Given the description of an element on the screen output the (x, y) to click on. 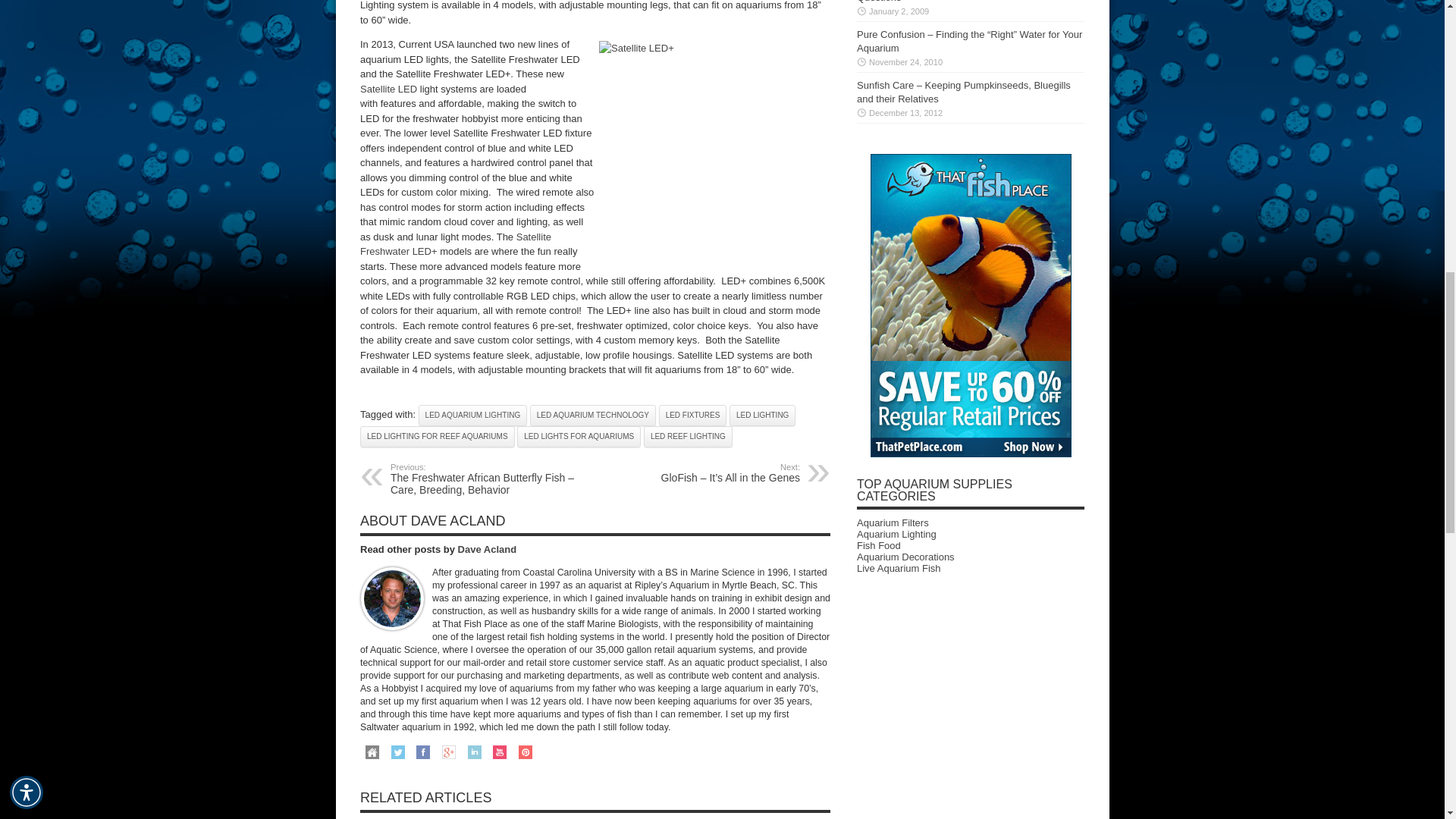
Satellite LED (387, 89)
Posts by Dave Acland (487, 549)
